Given the description of an element on the screen output the (x, y) to click on. 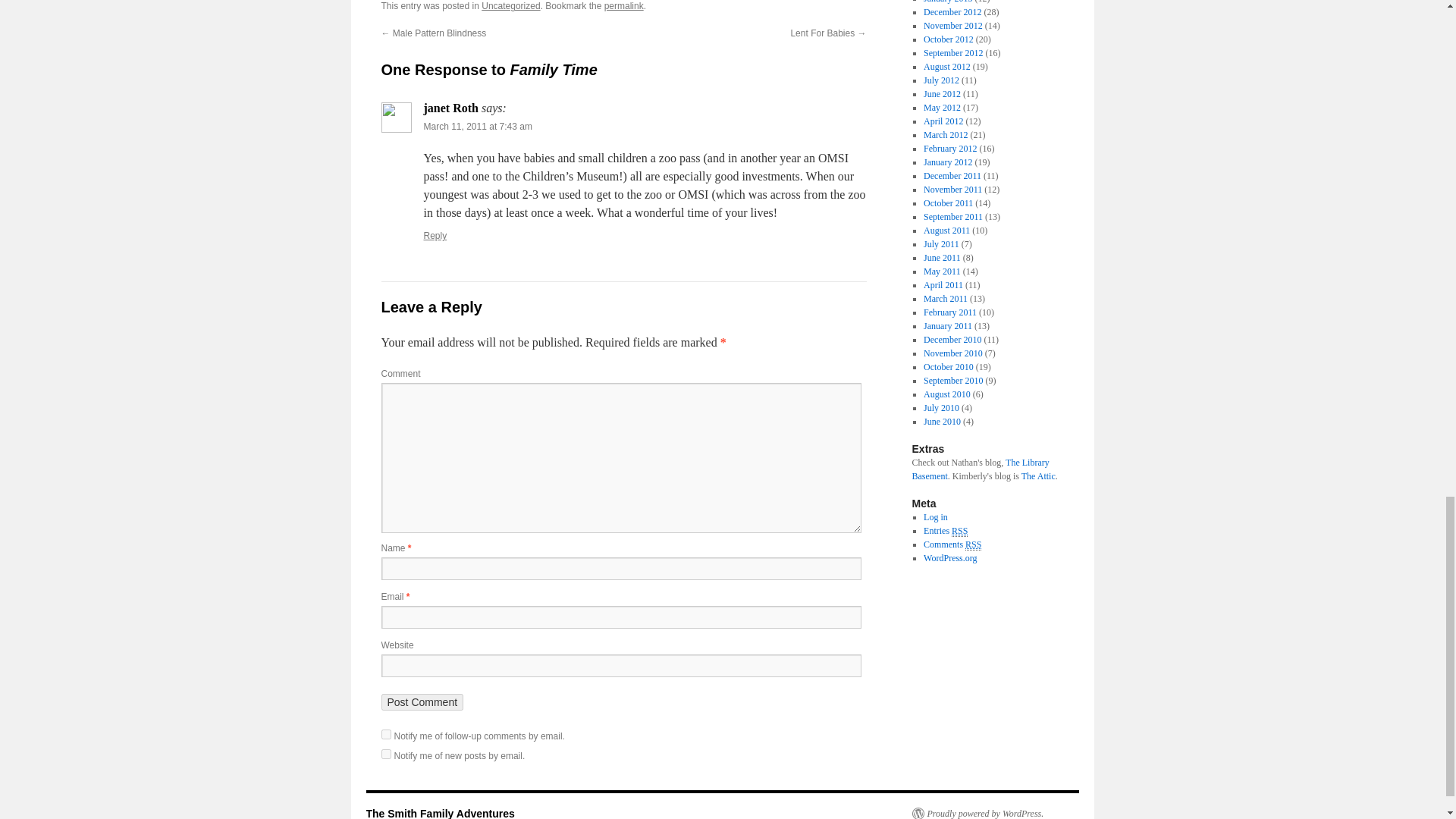
Really Simple Syndication (973, 544)
subscribe (385, 754)
Uncategorized (510, 5)
Really Simple Syndication (960, 531)
Reply (434, 235)
Post Comment (421, 701)
permalink (623, 5)
Permalink to Family Time (623, 5)
Post Comment (421, 701)
March 11, 2011 at 7:43 am (477, 126)
subscribe (385, 734)
